Given the description of an element on the screen output the (x, y) to click on. 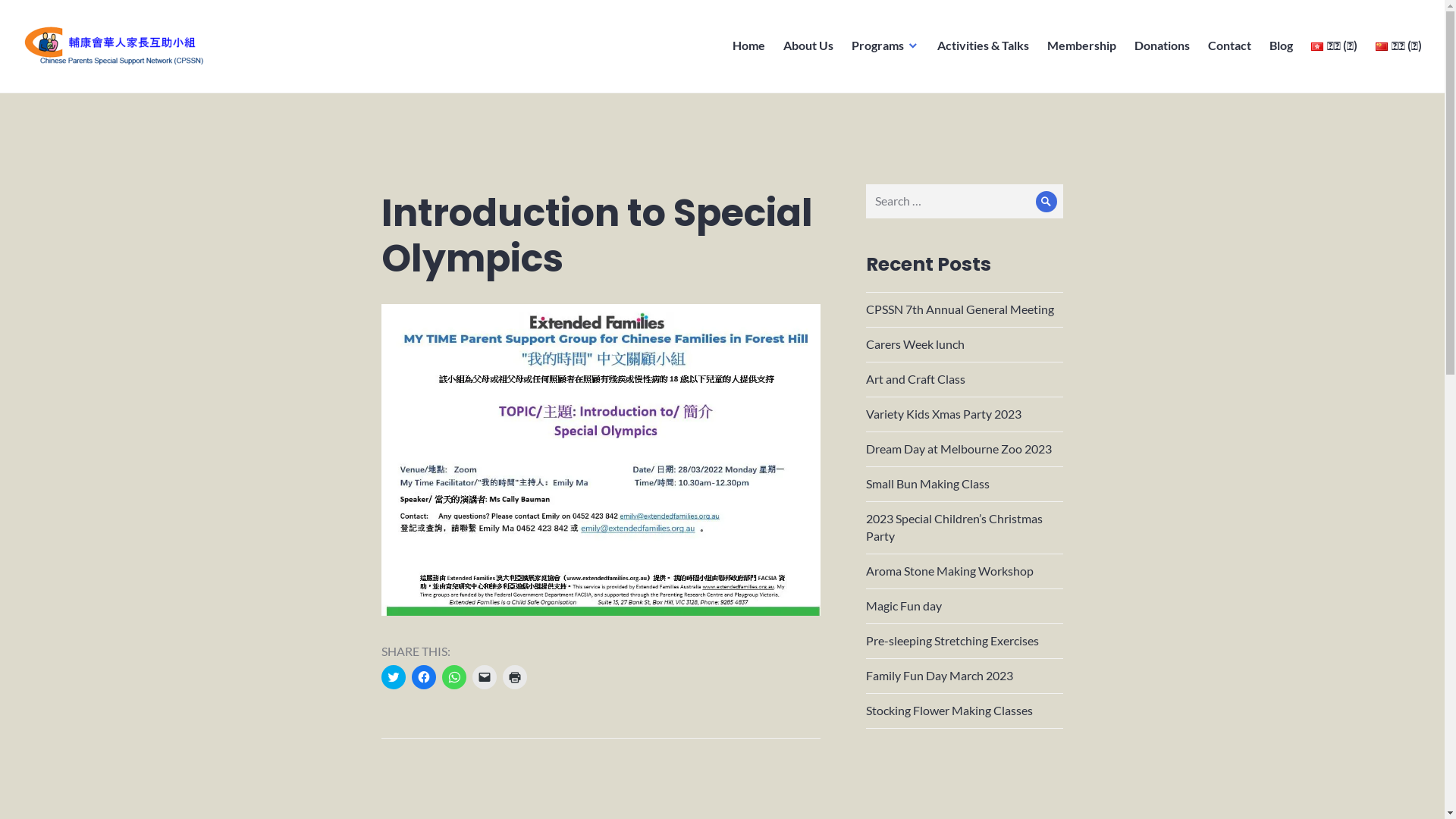
Contact Element type: text (1229, 46)
Dream Day at Melbourne Zoo 2023 Element type: text (958, 448)
Variety Kids Xmas Party 2023 Element type: text (943, 413)
Aroma Stone Making Workshop Element type: text (949, 570)
Blog Element type: text (1280, 46)
Search for: Element type: hover (964, 201)
Click to share on Twitter (Opens in new window) Element type: text (392, 677)
Small Bun Making Class Element type: text (927, 483)
Carers Week lunch Element type: text (915, 343)
Art and Craft Class Element type: text (915, 378)
Donations Element type: text (1161, 46)
Programs Element type: text (885, 46)
Stocking Flower Making Classes Element type: text (949, 709)
Membership Element type: text (1081, 46)
About Us Element type: text (808, 46)
Click to print (Opens in new window) Element type: text (514, 677)
Click to share on Facebook (Opens in new window) Element type: text (423, 677)
Click to email a link to a friend (Opens in new window) Element type: text (483, 677)
Activities & Talks Element type: text (983, 46)
Home Element type: text (748, 46)
Pre-sleeping Stretching Exercises Element type: text (952, 640)
Family Fun Day March 2023 Element type: text (939, 675)
NEW POSTS Element type: text (399, 209)
Magic Fun day Element type: text (903, 605)
CPSSN 7th Annual General Meeting Element type: text (960, 308)
March 30, 2022 Element type: text (397, 789)
Search Element type: text (1046, 201)
Click to share on WhatsApp (Opens in new window) Element type: text (453, 677)
